Given the description of an element on the screen output the (x, y) to click on. 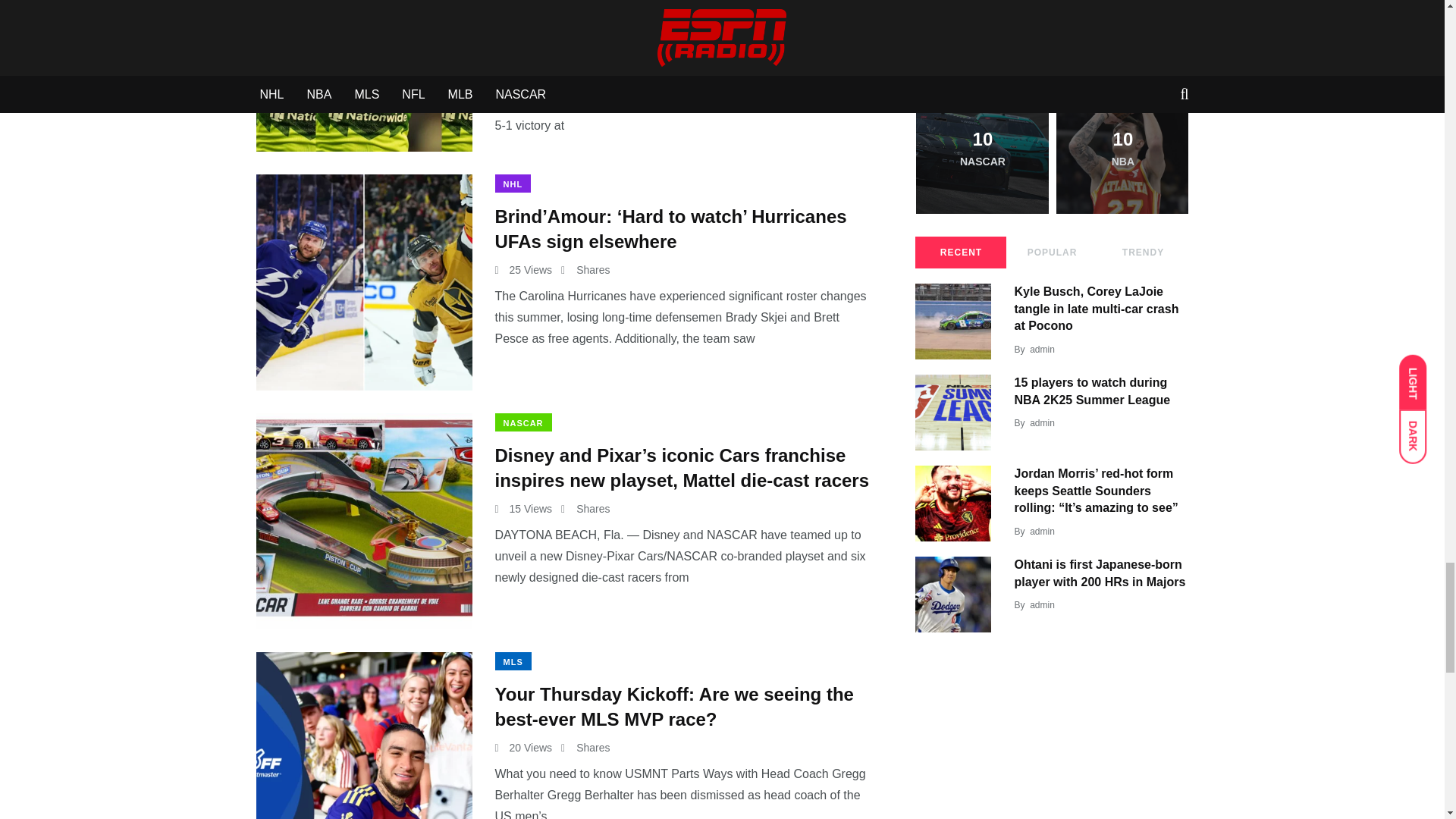
Posts by admin (1041, 422)
Posts by admin (1041, 531)
Posts by admin (1041, 348)
Posts by admin (1041, 604)
